Given the description of an element on the screen output the (x, y) to click on. 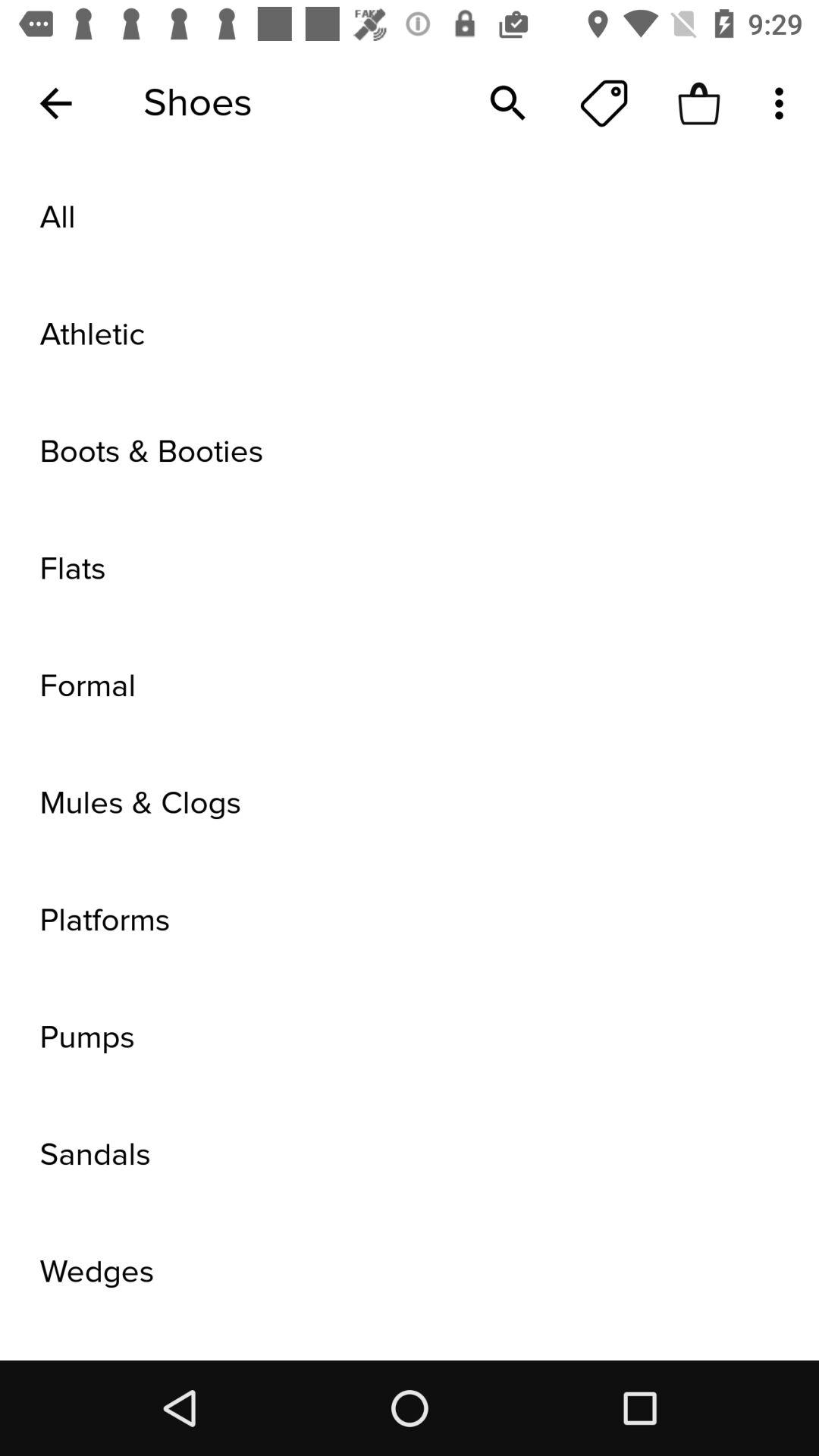
press the item above the all (783, 103)
